Given the description of an element on the screen output the (x, y) to click on. 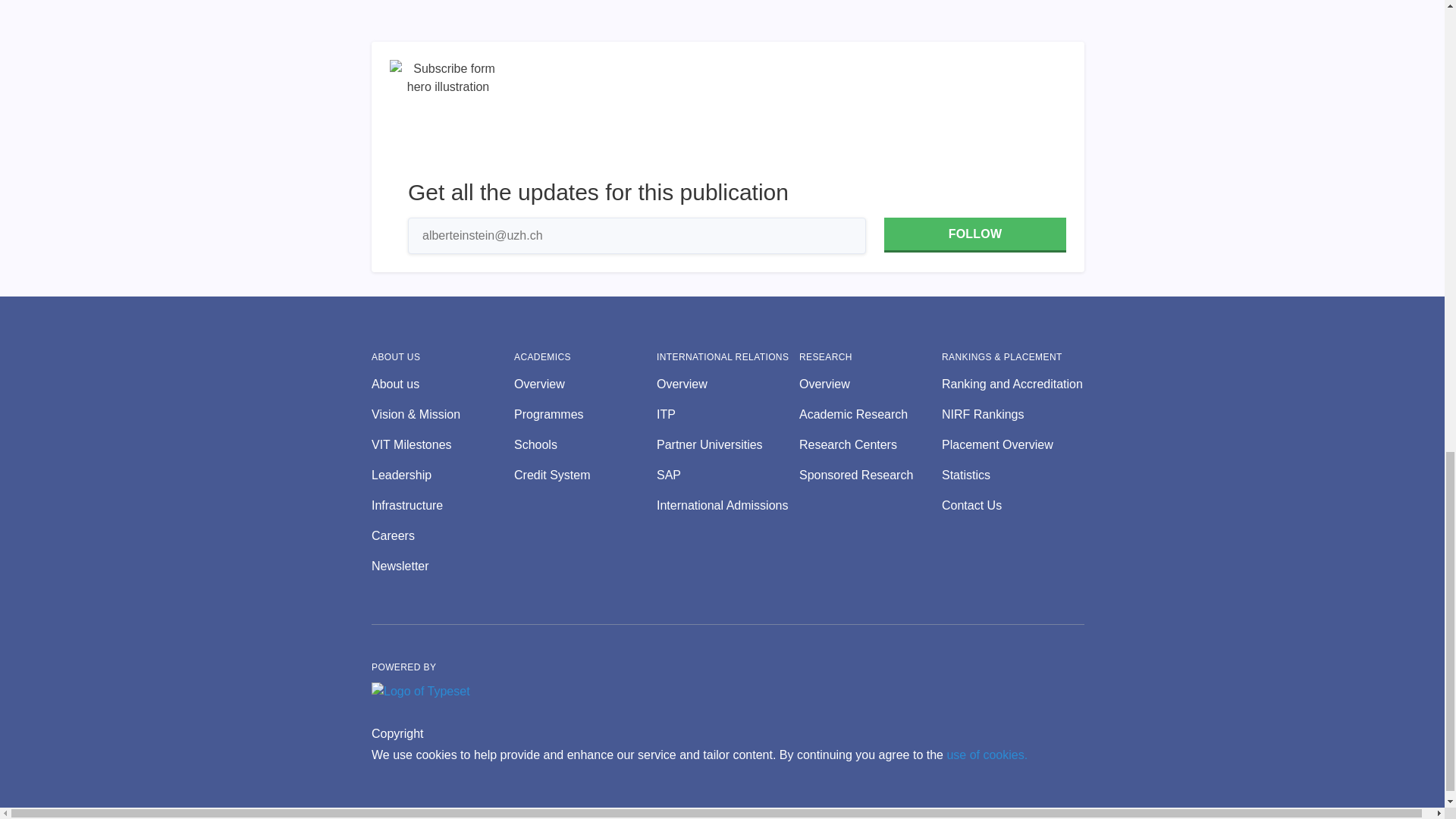
About us (442, 384)
Programmes (584, 414)
ITP (727, 414)
Subscribe form hero illustration (448, 117)
FOLLOW (974, 234)
Careers (442, 536)
Infrastructure (442, 505)
Placement Overview (1013, 444)
Newsletter (442, 566)
Academic Research (870, 414)
VIT Milestones (442, 444)
Copyright (397, 733)
Partner Universities (727, 444)
Statistics (1013, 475)
SAP (727, 475)
